Given the description of an element on the screen output the (x, y) to click on. 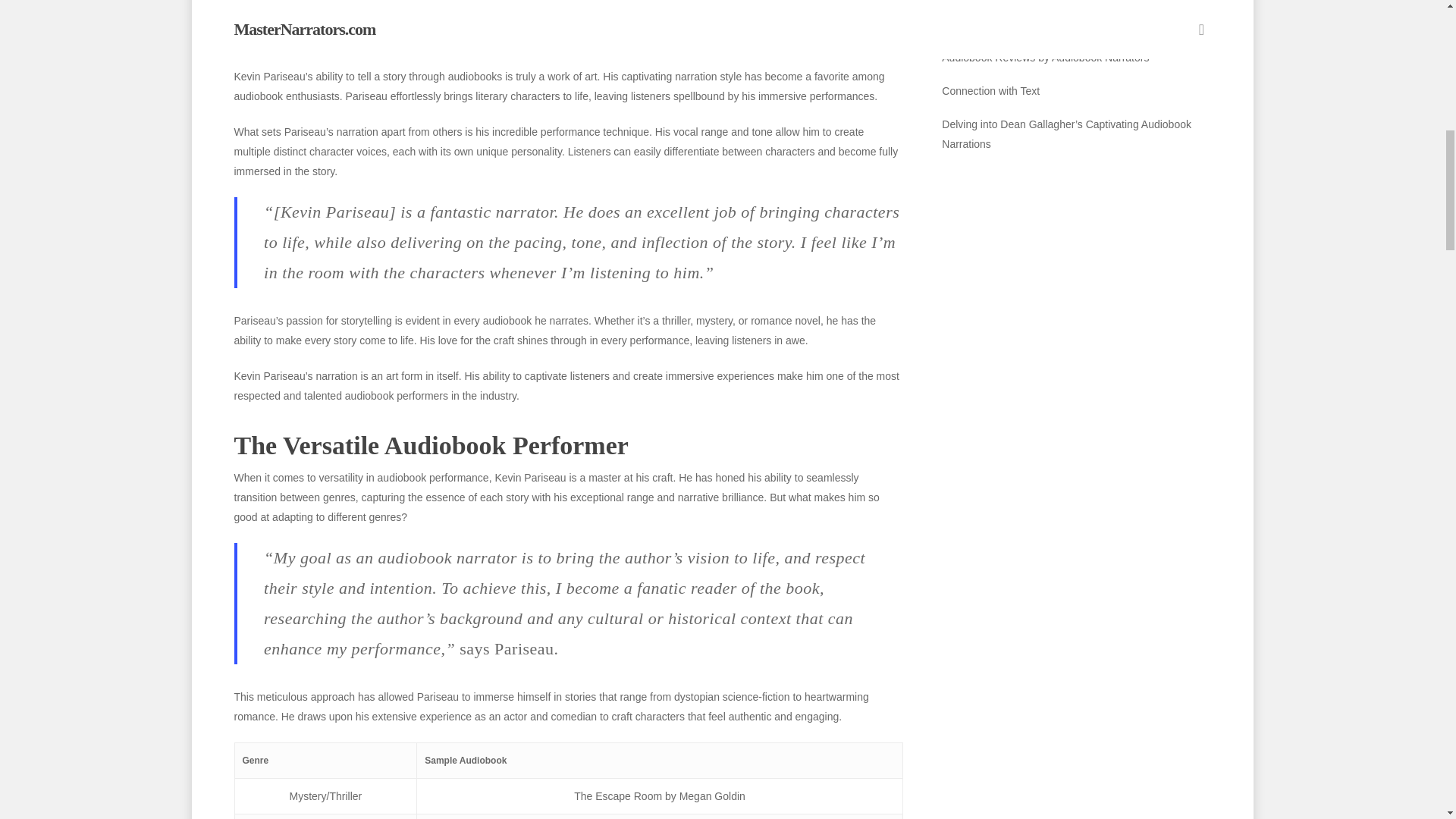
Jennifer Ikeda: The Voice of Elegance (1075, 24)
Audiobook Reviews by Audiobook Narrators (1075, 57)
Connection with Text (1075, 90)
